Given the description of an element on the screen output the (x, y) to click on. 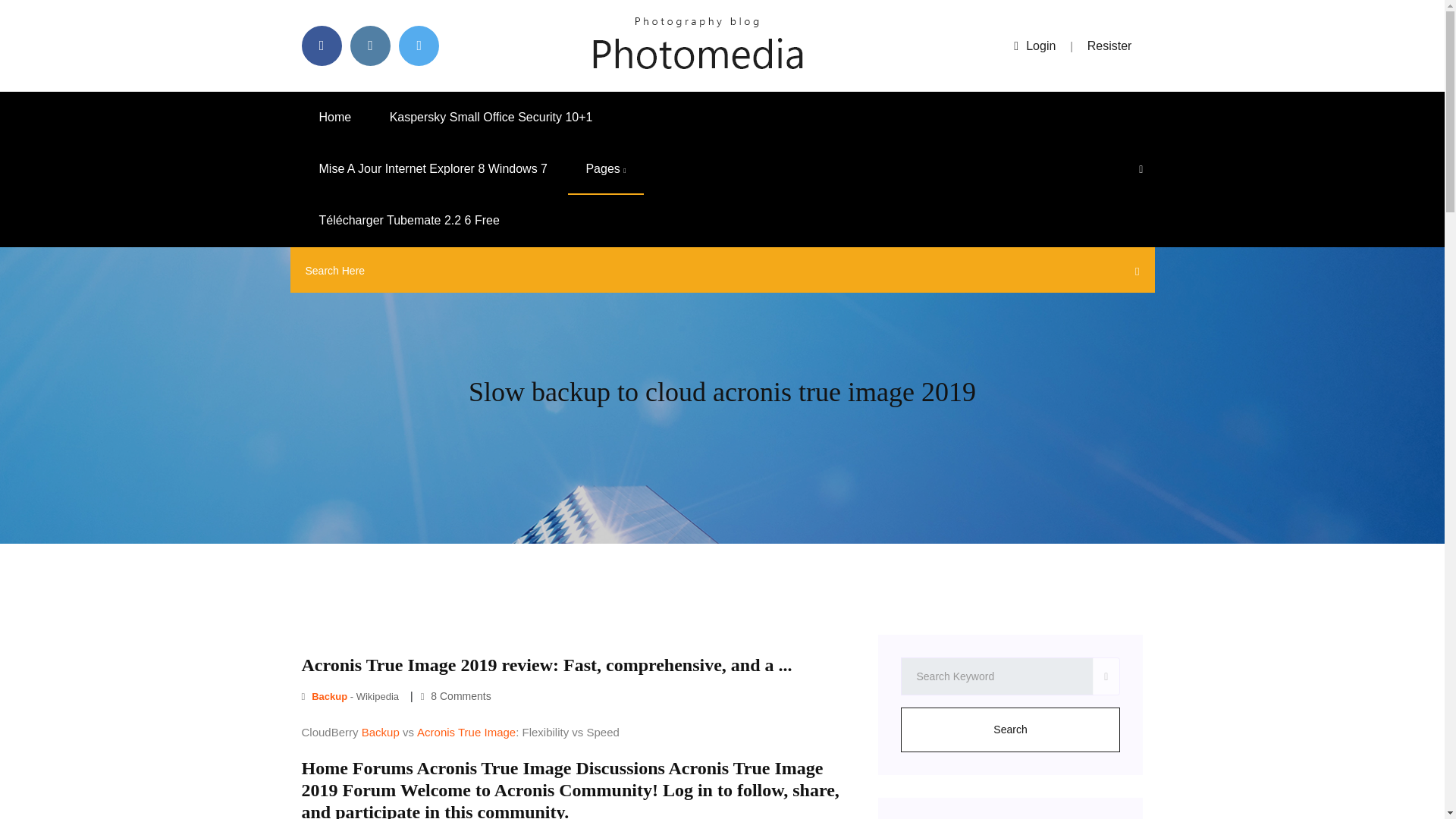
Backup - Wikipedia (352, 695)
Resister (1109, 45)
Home (335, 117)
8 Comments (456, 695)
Pages (605, 168)
Mise A Jour Internet Explorer 8 Windows 7 (432, 168)
Login (1034, 45)
